Given the description of an element on the screen output the (x, y) to click on. 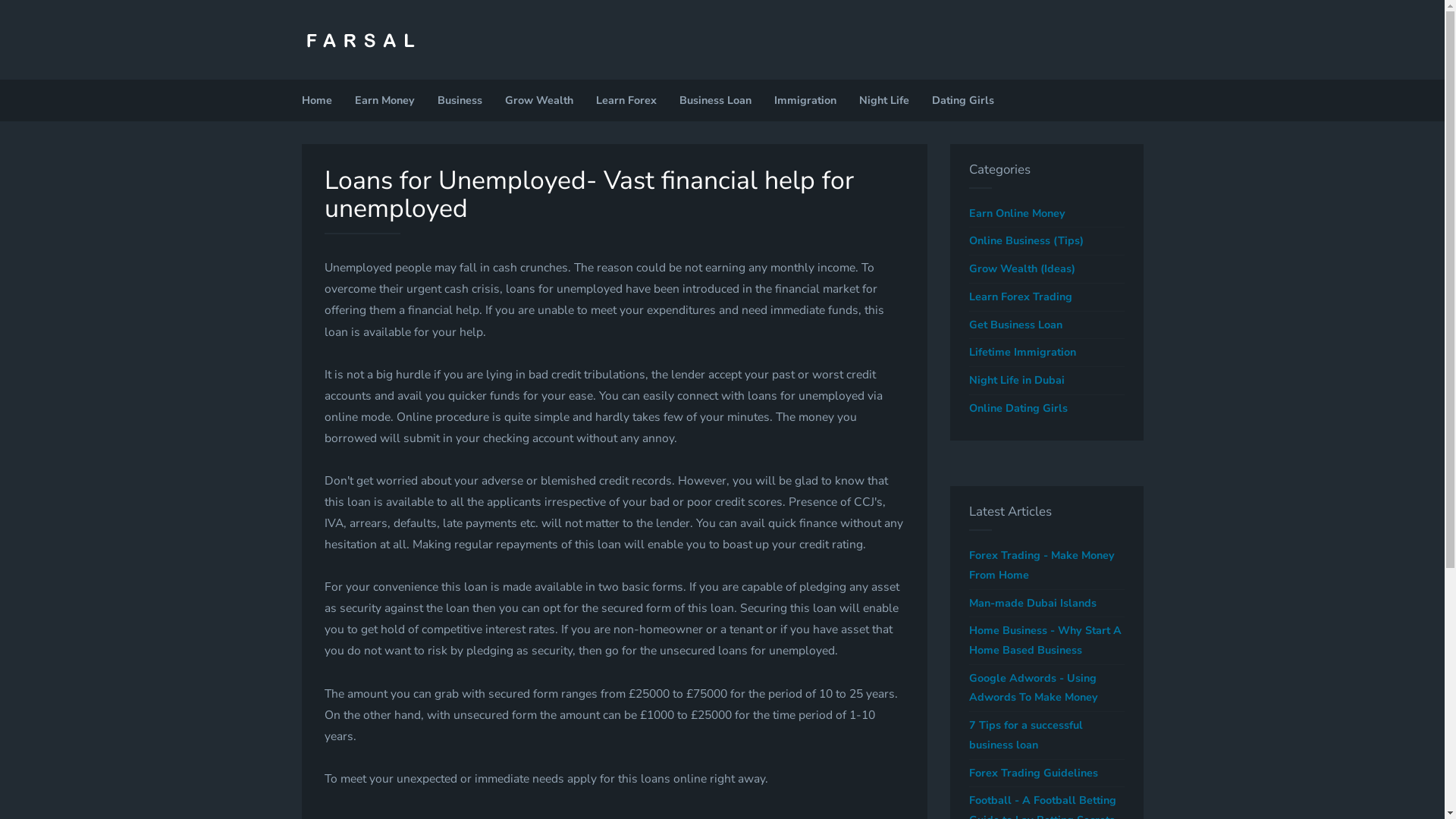
Earn Online Money Element type: text (1046, 213)
Grow Wealth Element type: text (537, 100)
Online Business (Tips) Element type: text (1046, 240)
7 Tips for a successful business loan Element type: text (1046, 735)
Forex Trading - Make Money From Home Element type: text (1046, 565)
Night Life Element type: text (883, 100)
Google Adwords - Using Adwords To Make Money Element type: text (1046, 688)
Home Business - Why Start A Home Based Business Element type: text (1046, 640)
Forex Trading Guidelines Element type: text (1046, 773)
Home Element type: text (315, 100)
Lifetime Immigration Element type: text (1046, 352)
Man-made Dubai Islands Element type: text (1046, 603)
Learn Forex Trading Element type: text (1046, 296)
Dating Girls Element type: text (962, 100)
Online Dating Girls Element type: text (1046, 408)
Immigration Element type: text (804, 100)
Night Life in Dubai Element type: text (1046, 380)
Get Business Loan Element type: text (1046, 324)
Business Loan Element type: text (714, 100)
Earn Money Element type: text (383, 100)
Business Element type: text (459, 100)
Learn Forex Element type: text (625, 100)
Grow Wealth (Ideas) Element type: text (1046, 268)
